Given the description of an element on the screen output the (x, y) to click on. 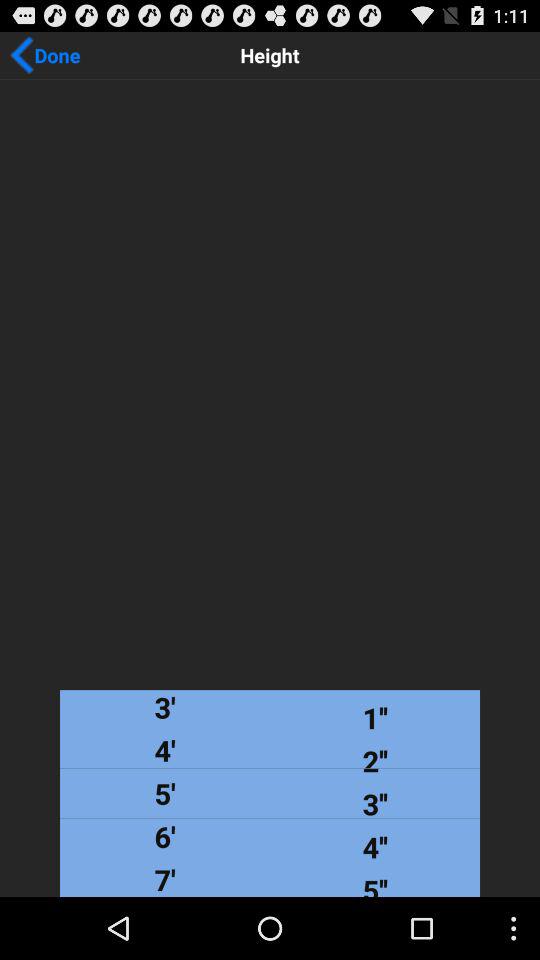
launch item to the left of height app (45, 55)
